Given the description of an element on the screen output the (x, y) to click on. 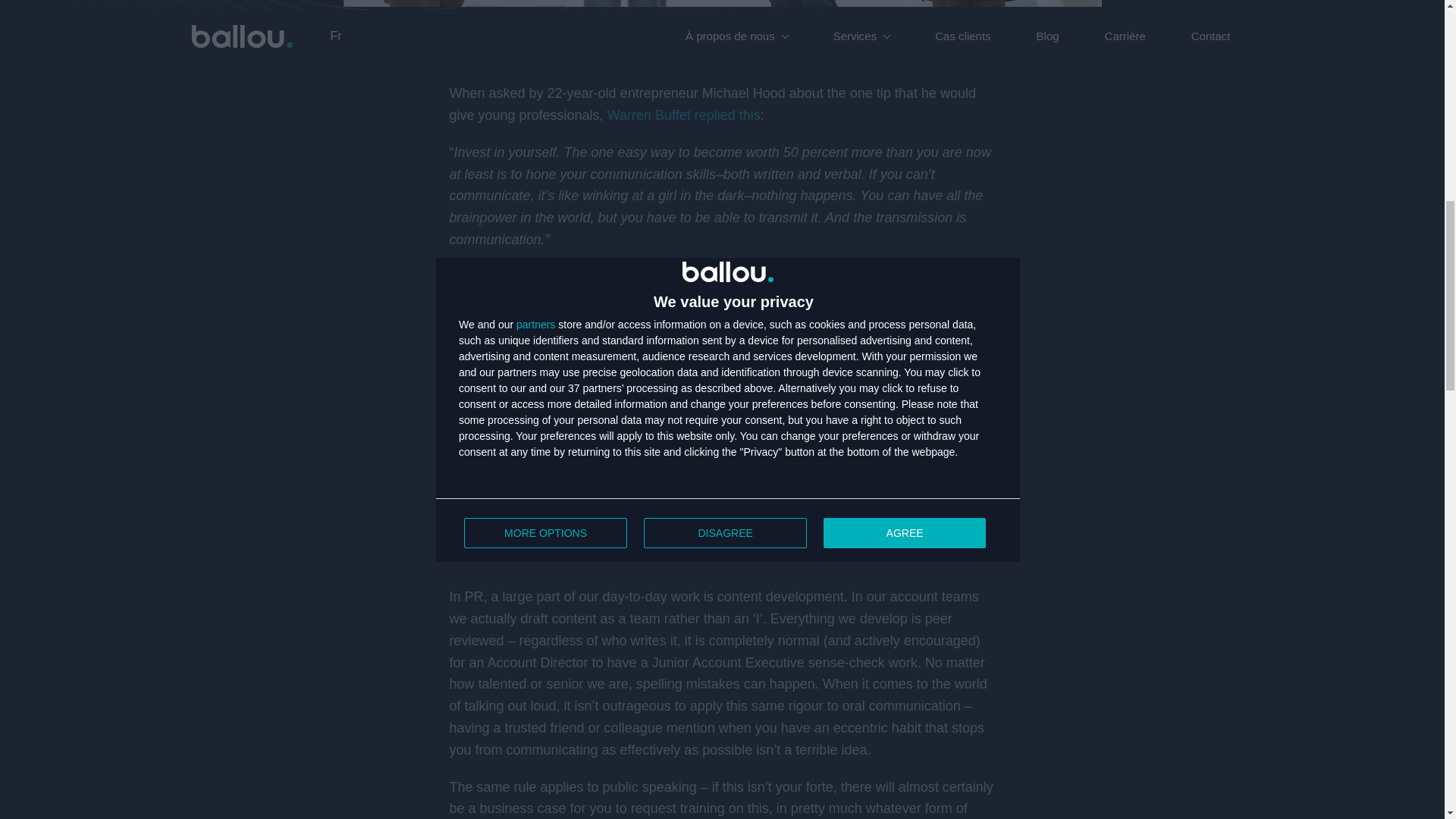
Warren Buffet replied this (683, 114)
